Given the description of an element on the screen output the (x, y) to click on. 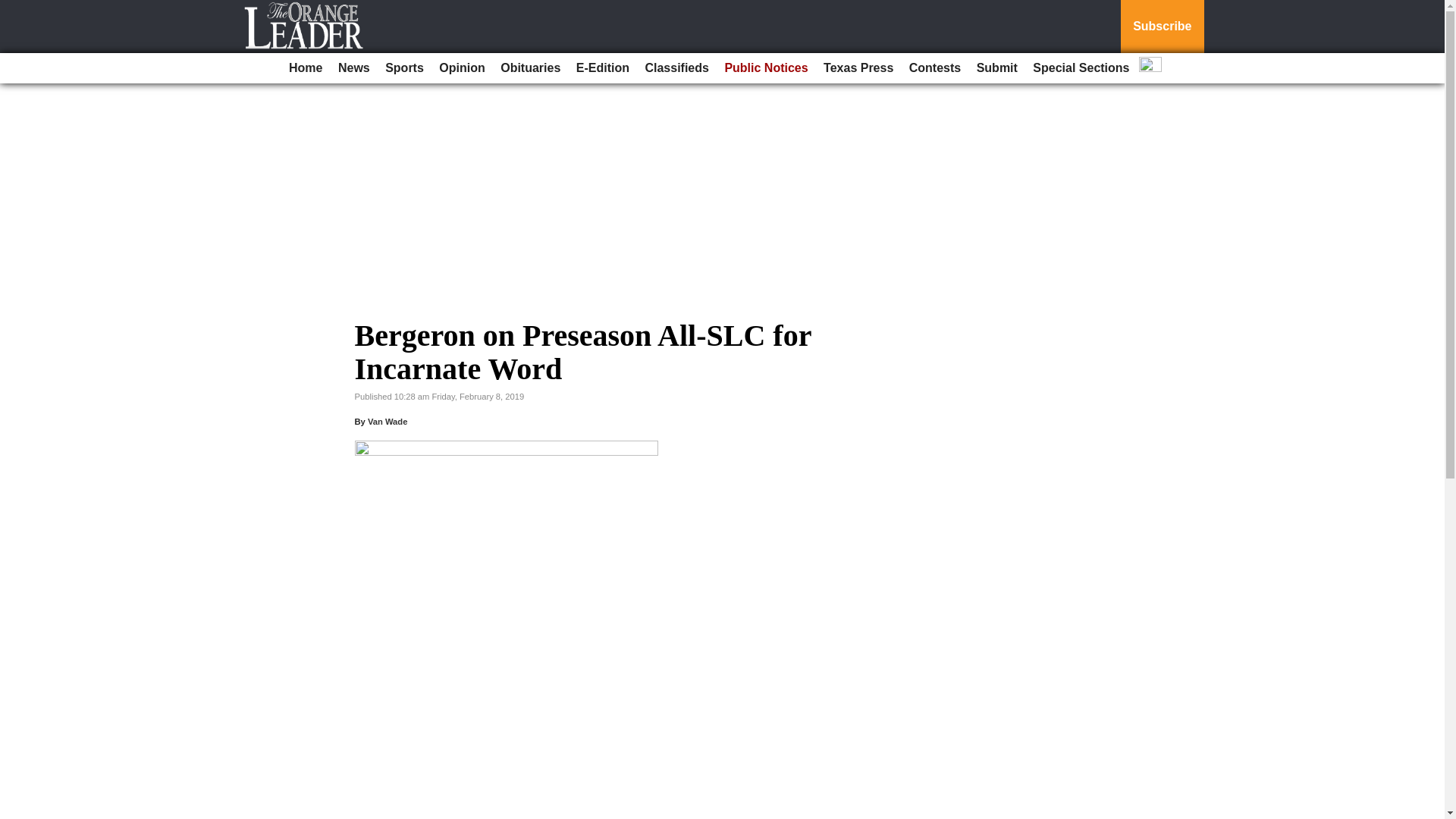
Public Notices (765, 68)
Home (305, 68)
E-Edition (602, 68)
Opinion (461, 68)
Sports (403, 68)
Special Sections (1080, 68)
News (353, 68)
Subscribe (1162, 26)
Obituaries (530, 68)
Texas Press (857, 68)
